Given the description of an element on the screen output the (x, y) to click on. 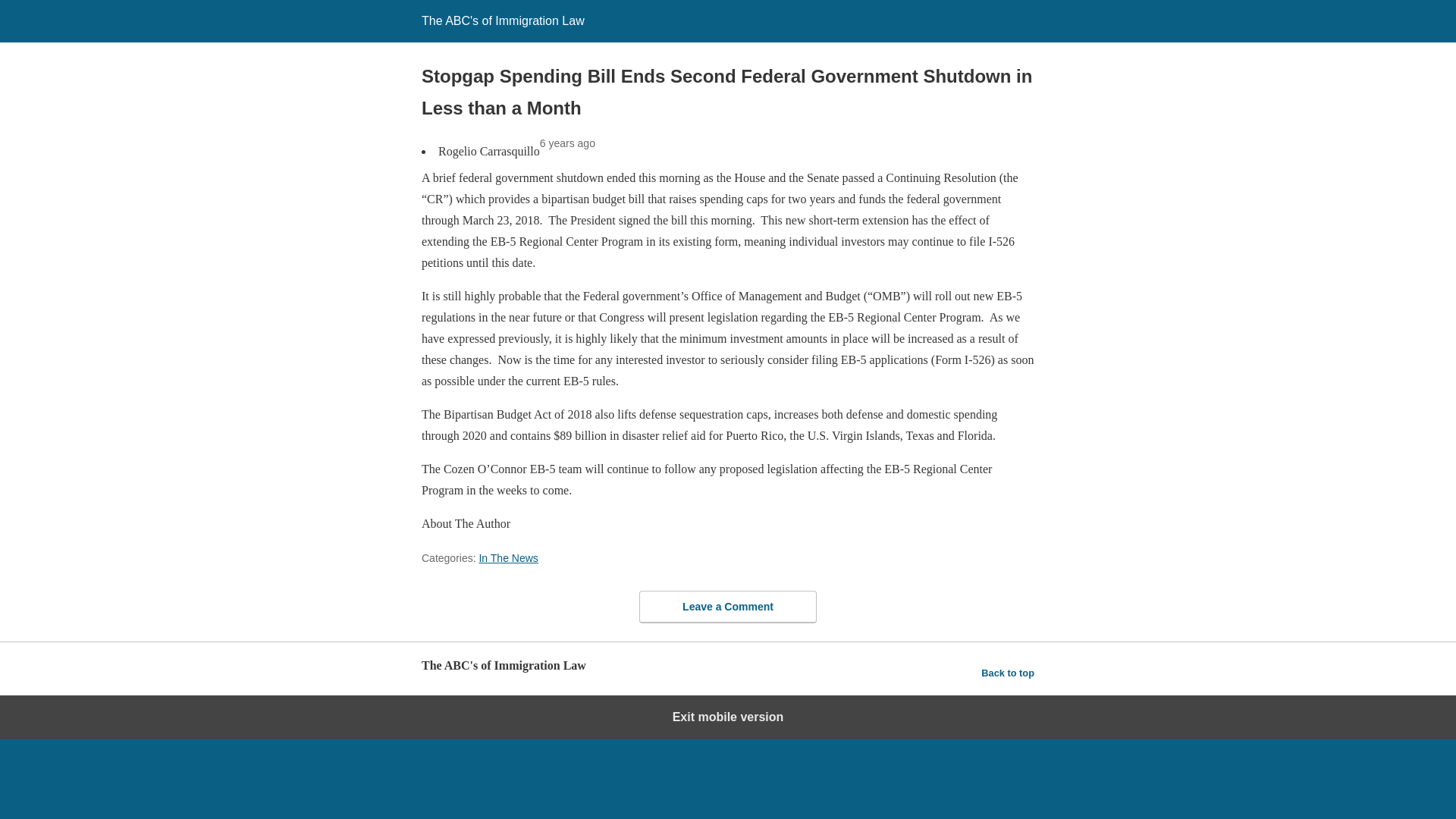
In The News (508, 558)
The ABC's of Immigration Law (503, 20)
Back to top (1007, 673)
Leave a Comment (727, 605)
